Given the description of an element on the screen output the (x, y) to click on. 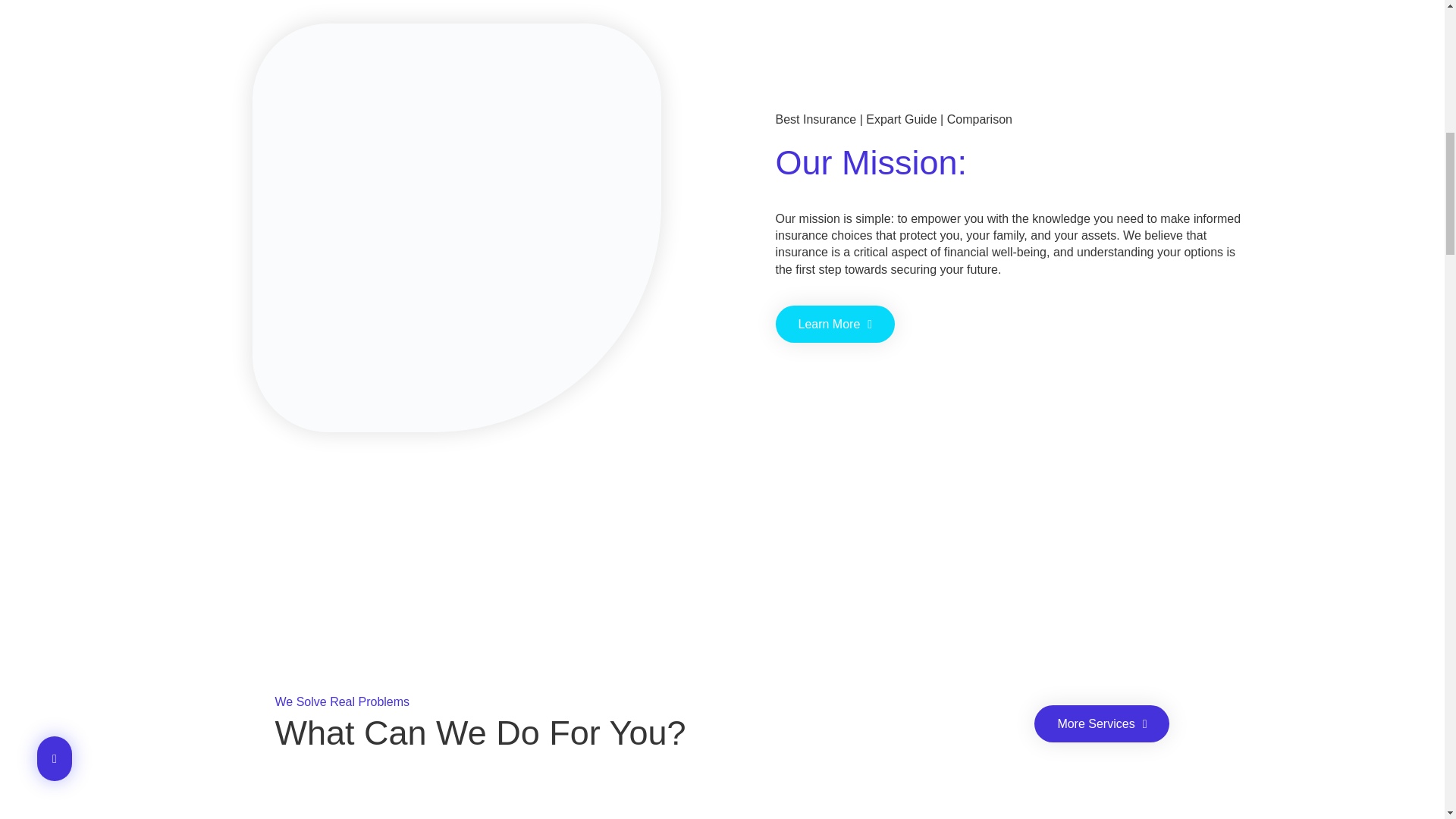
More Services (1101, 723)
Learn More (834, 324)
